Given the description of an element on the screen output the (x, y) to click on. 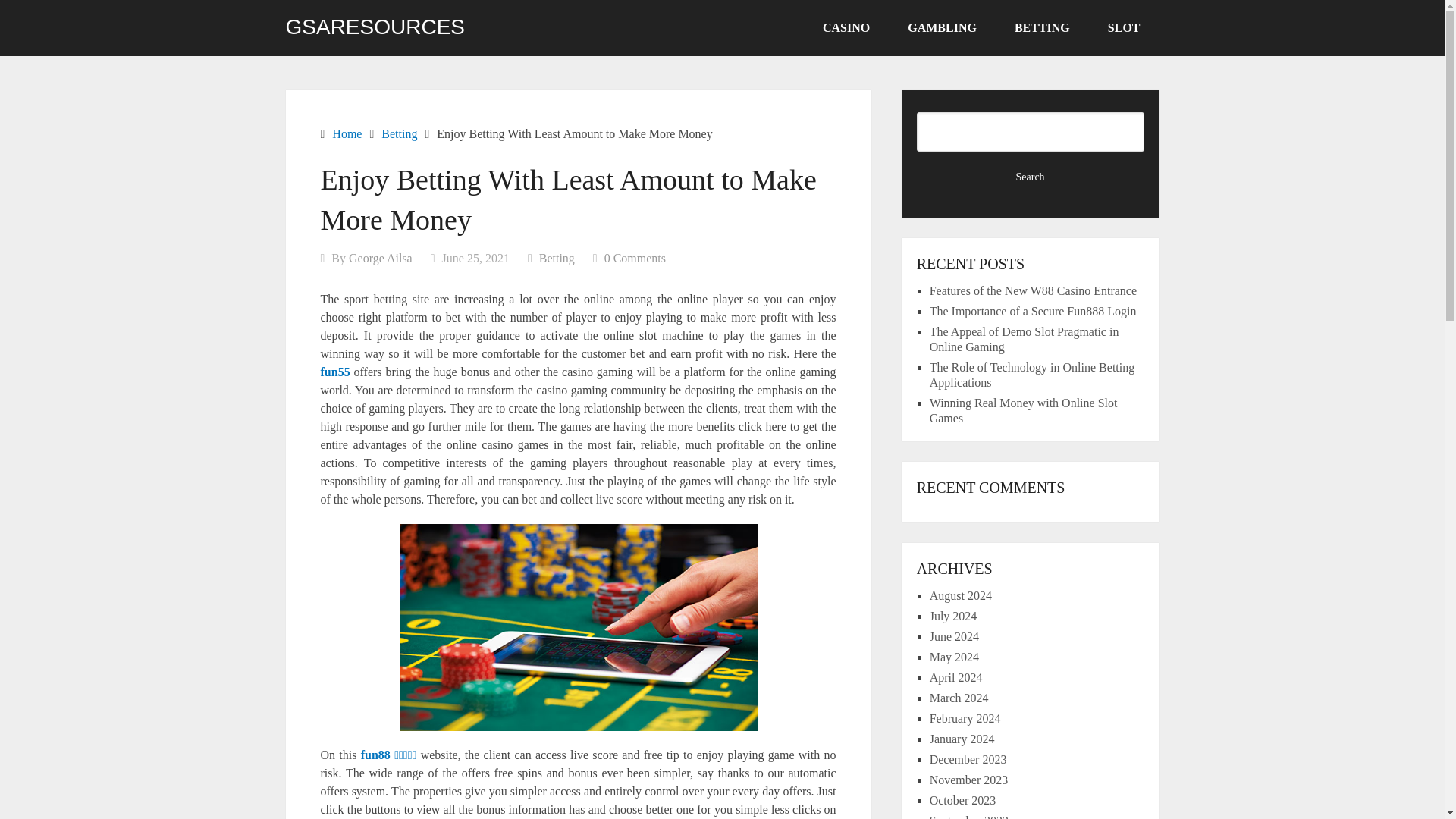
September 2023 (969, 816)
May 2024 (954, 656)
Betting (398, 133)
Home (346, 133)
August 2024 (960, 594)
April 2024 (956, 676)
0 Comments (634, 257)
Search (1030, 176)
March 2024 (959, 697)
Betting (556, 257)
